Given the description of an element on the screen output the (x, y) to click on. 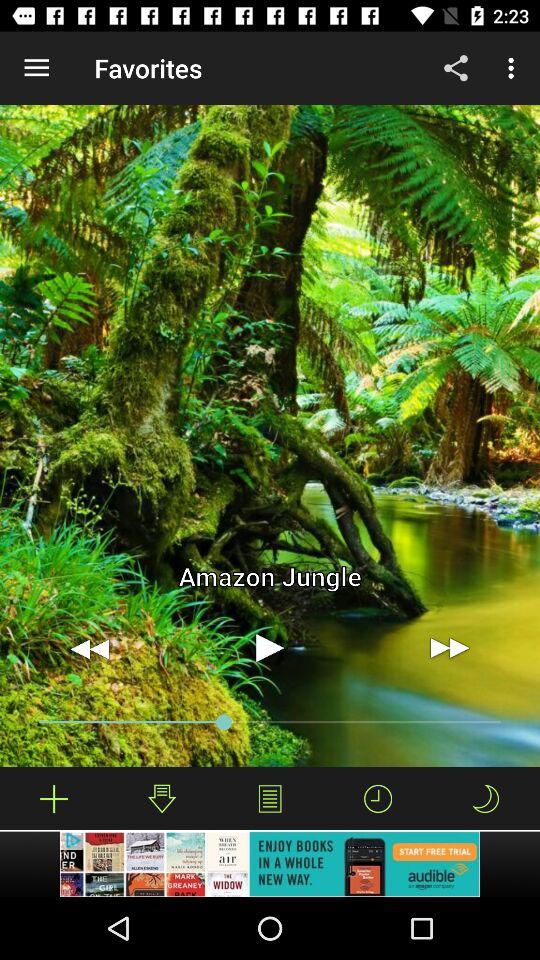
select the download icon (161, 798)
click on the icon which is to the left of the clock icon (269, 798)
click on the second icon left from the bottom right corner (377, 798)
select the fifth icon which is at the bottom right corner (485, 798)
select more option which is on the top right corner of page (514, 68)
select the add button which is in the bottom left of the page (53, 798)
